Given the description of an element on the screen output the (x, y) to click on. 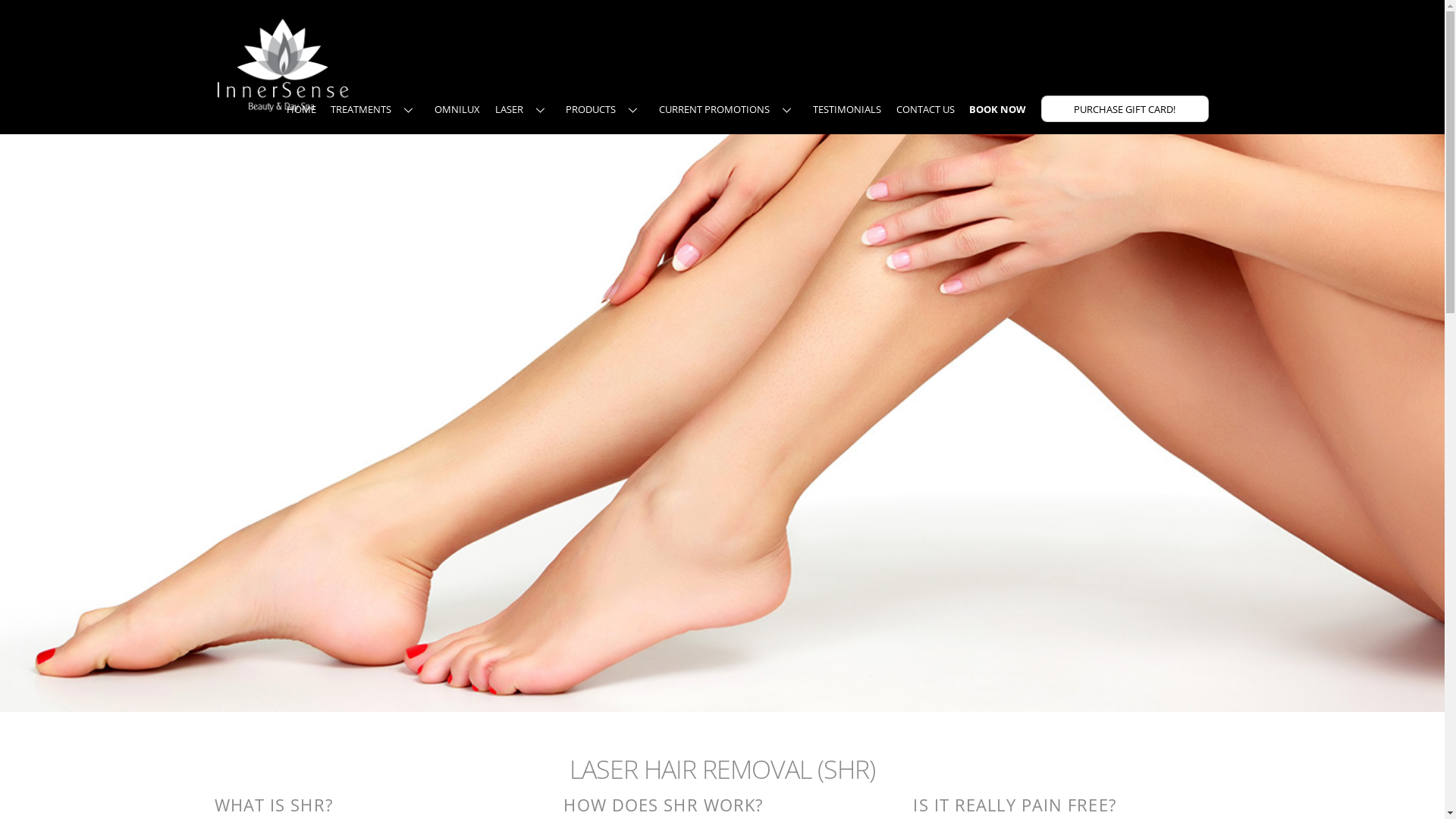
PURCHASE GIFT CARD! Element type: text (1124, 108)
PRODUCTS Element type: text (605, 108)
InnerSense-dayspa-Logo-2 Element type: hover (281, 63)
OMNILUX Element type: text (457, 108)
LASER Element type: text (523, 108)
HOME Element type: text (301, 108)
BOOK NOW Element type: text (997, 108)
TESTIMONIALS Element type: text (846, 108)
InnerSense Beauty & Day Spa Element type: hover (281, 105)
CURRENT PROMOTIONS Element type: text (727, 108)
CONTACT US Element type: text (925, 108)
TREATMENTS Element type: text (374, 108)
